Given the description of an element on the screen output the (x, y) to click on. 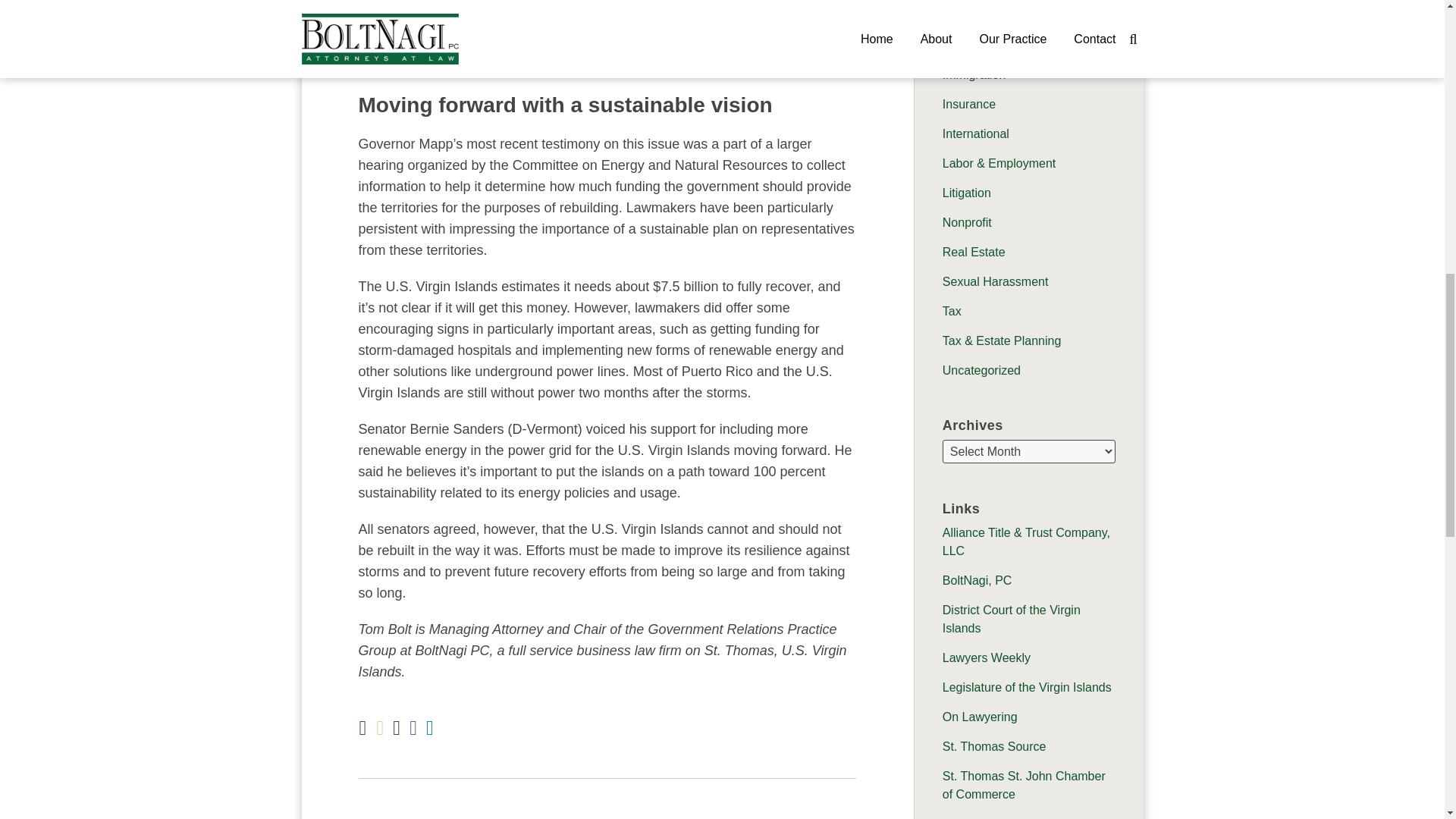
Government Relations (1002, 15)
Litigation (966, 192)
International (975, 133)
Hurricane (968, 44)
Immigration (974, 74)
Insurance (968, 103)
